Given the description of an element on the screen output the (x, y) to click on. 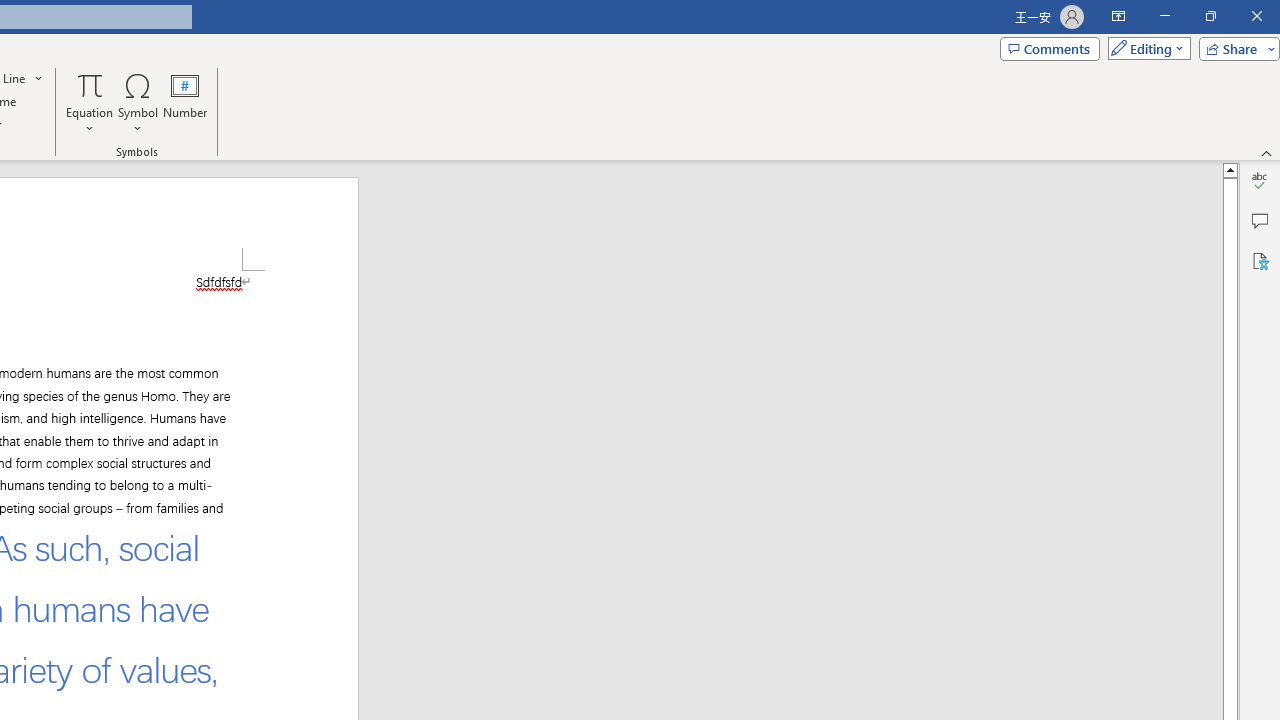
Editing (1144, 47)
Equation (90, 84)
Number... (185, 102)
Equation (90, 102)
Accessibility (1260, 260)
